Given the description of an element on the screen output the (x, y) to click on. 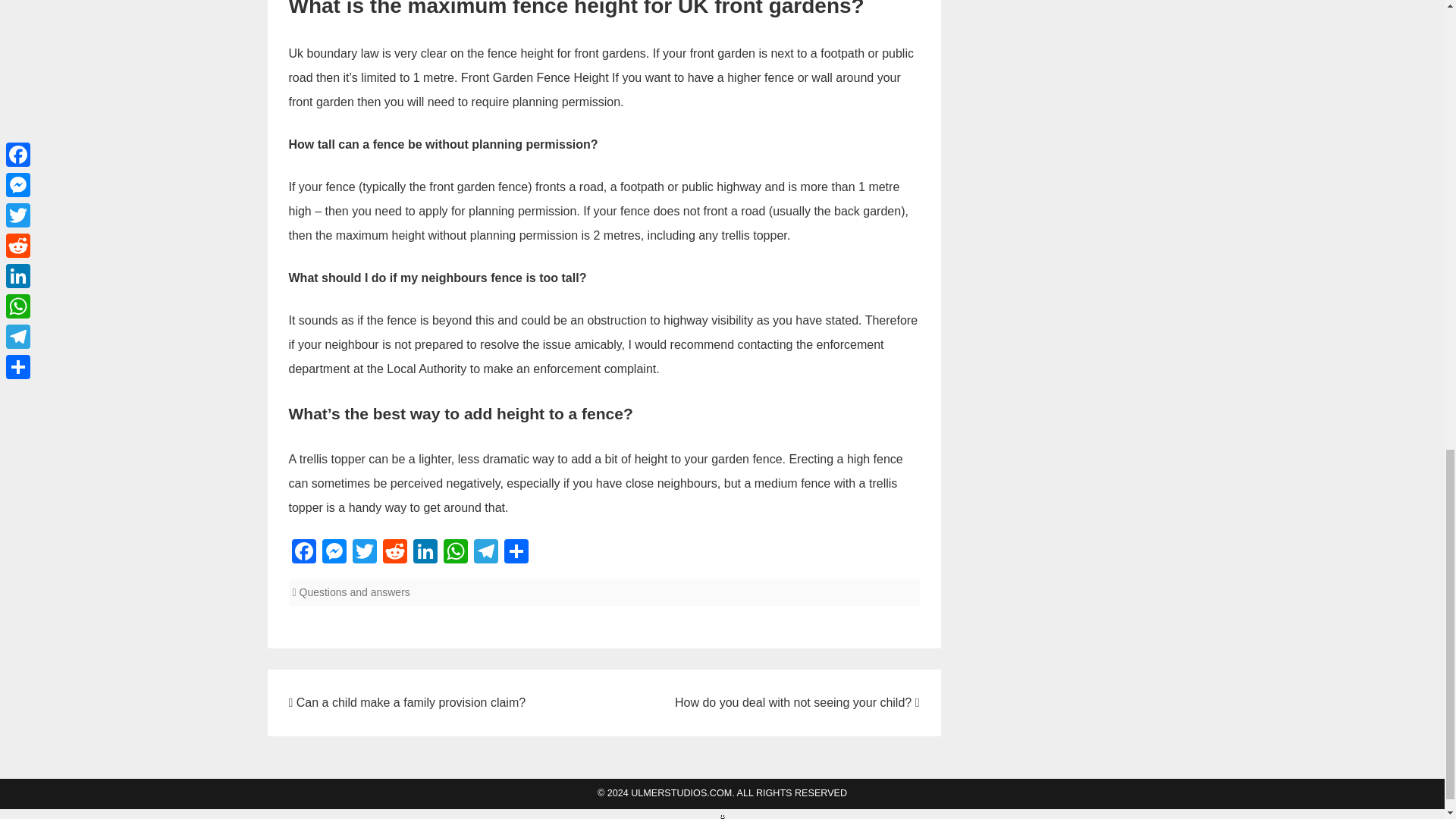
Messenger (333, 552)
Reddit (393, 552)
Telegram (485, 552)
WhatsApp (454, 552)
Twitter (363, 552)
Reddit (393, 552)
LinkedIn (424, 552)
How do you deal with not seeing your child? (796, 702)
WhatsApp (454, 552)
LinkedIn (424, 552)
